Given the description of an element on the screen output the (x, y) to click on. 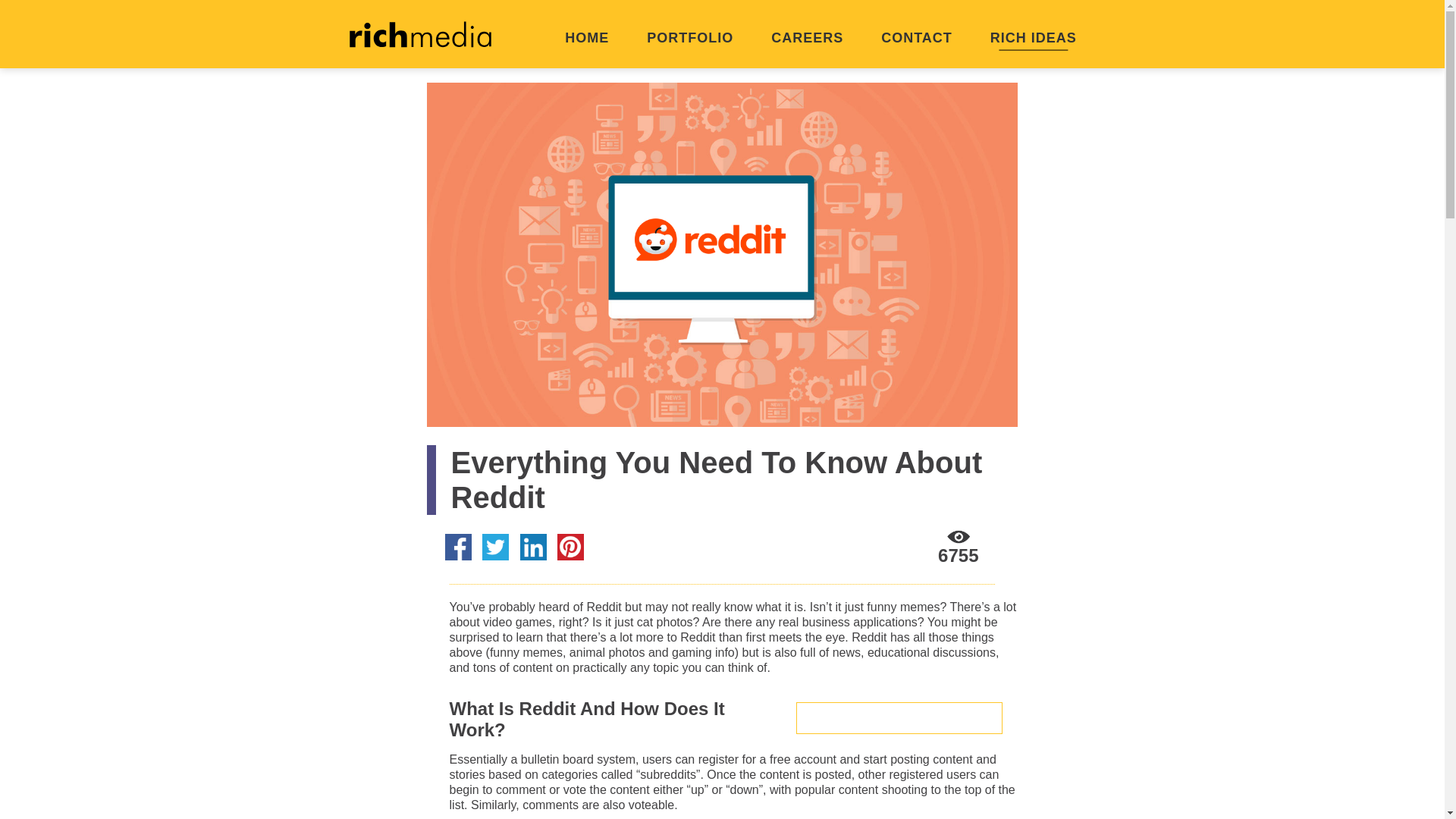
CAREERS (806, 38)
HOME (586, 38)
CONTACT (916, 38)
RICH IDEAS (1033, 38)
PORTFOLIO (689, 38)
